Given the description of an element on the screen output the (x, y) to click on. 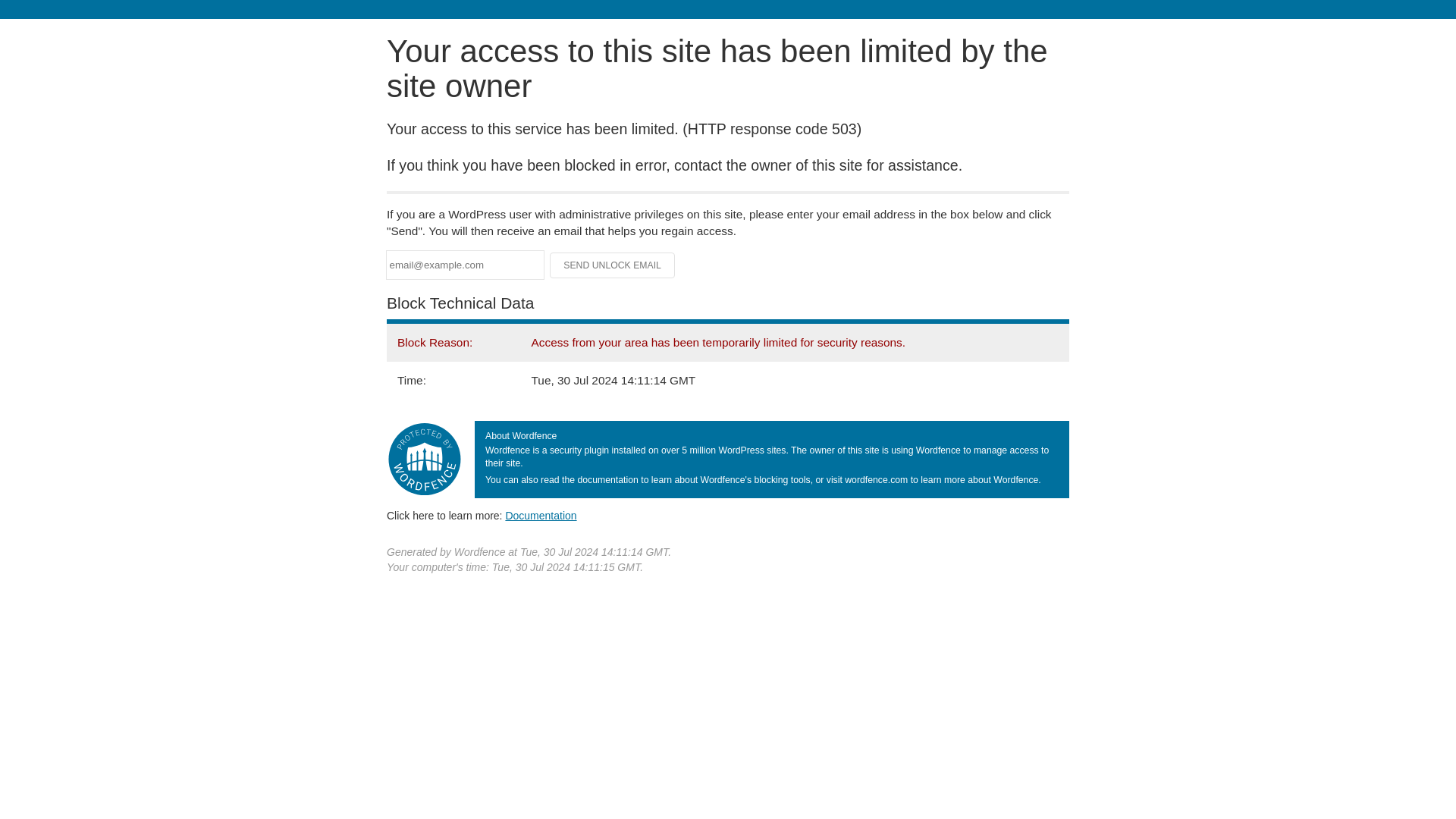
Documentation (540, 515)
Send Unlock Email (612, 265)
Send Unlock Email (612, 265)
